Given the description of an element on the screen output the (x, y) to click on. 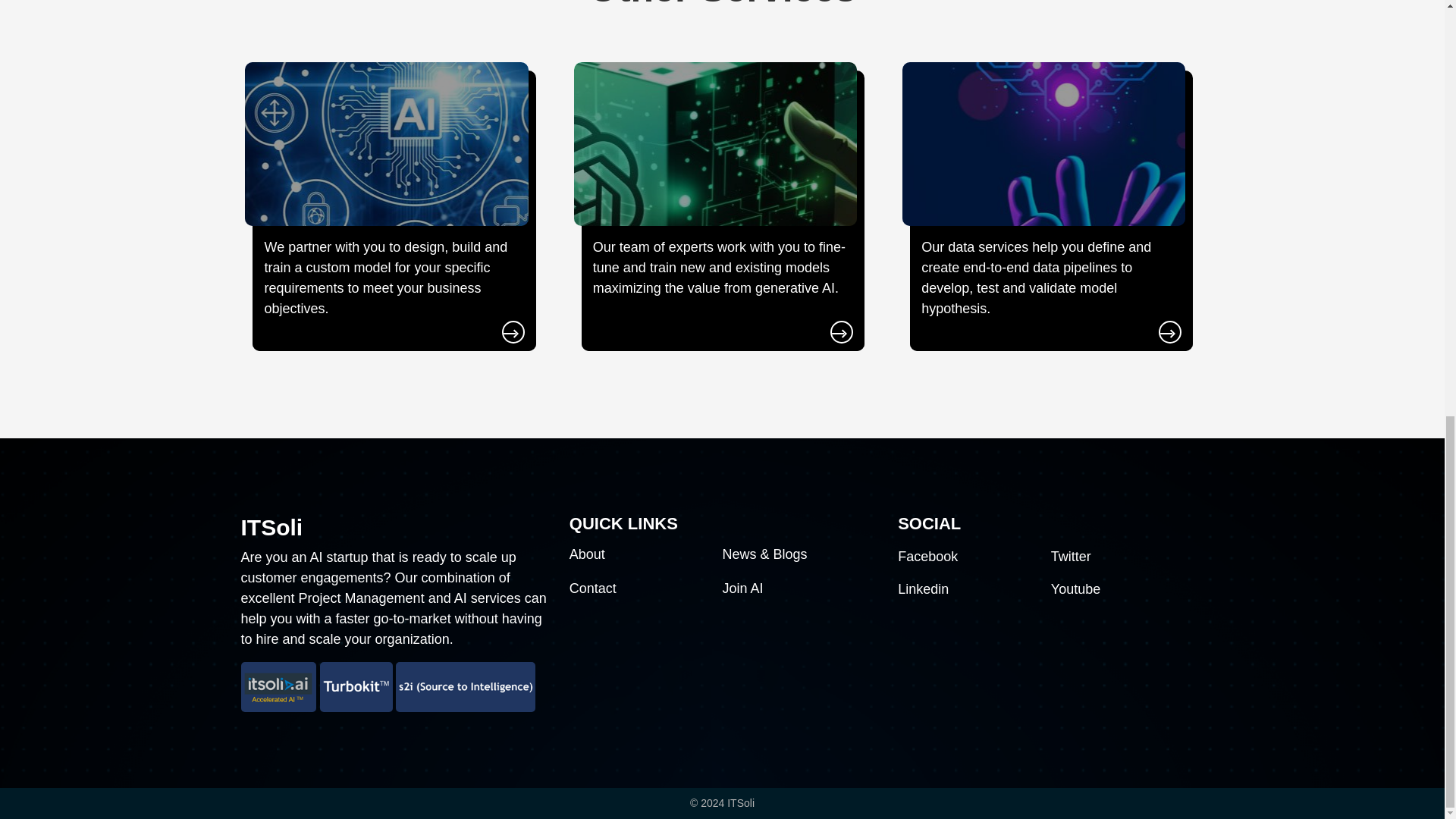
Join AI (742, 588)
Contact (592, 588)
Youtube (1075, 589)
Facebook (928, 556)
Twitter (1070, 556)
About (587, 554)
Linkedin (923, 589)
